Given the description of an element on the screen output the (x, y) to click on. 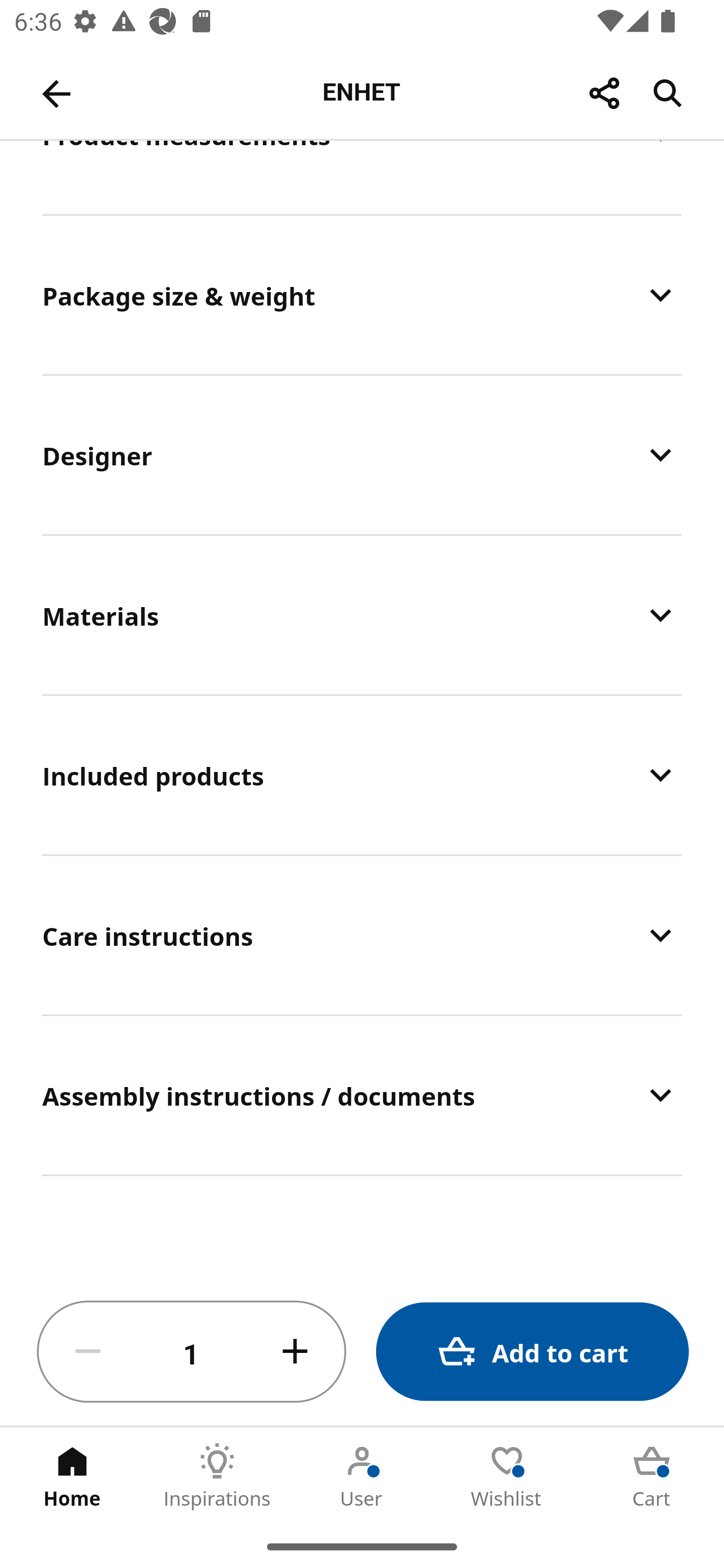
Package size & weight (361, 295)
Designer (361, 454)
Materials (361, 615)
Included products (361, 774)
Care instructions (361, 934)
Assembly instructions / documents (361, 1094)
Add to cart (531, 1352)
1 (191, 1352)
Home
Tab 1 of 5 (72, 1476)
Inspirations
Tab 2 of 5 (216, 1476)
User
Tab 3 of 5 (361, 1476)
Wishlist
Tab 4 of 5 (506, 1476)
Cart
Tab 5 of 5 (651, 1476)
